Given the description of an element on the screen output the (x, y) to click on. 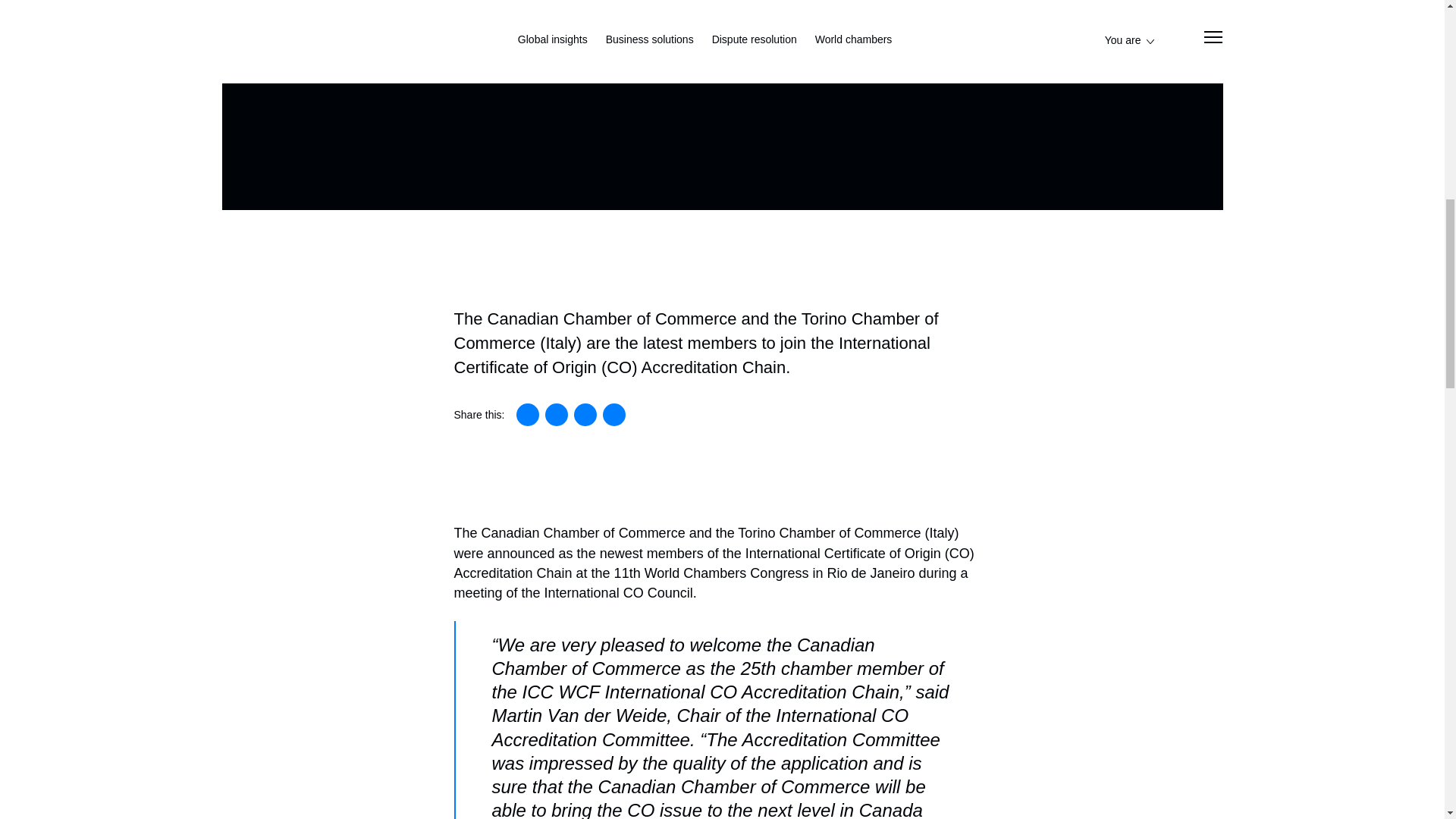
Share on Facebook (584, 414)
Share on X (555, 414)
Share this article with your email software (614, 414)
Share on Linkedin (527, 414)
